Given the description of an element on the screen output the (x, y) to click on. 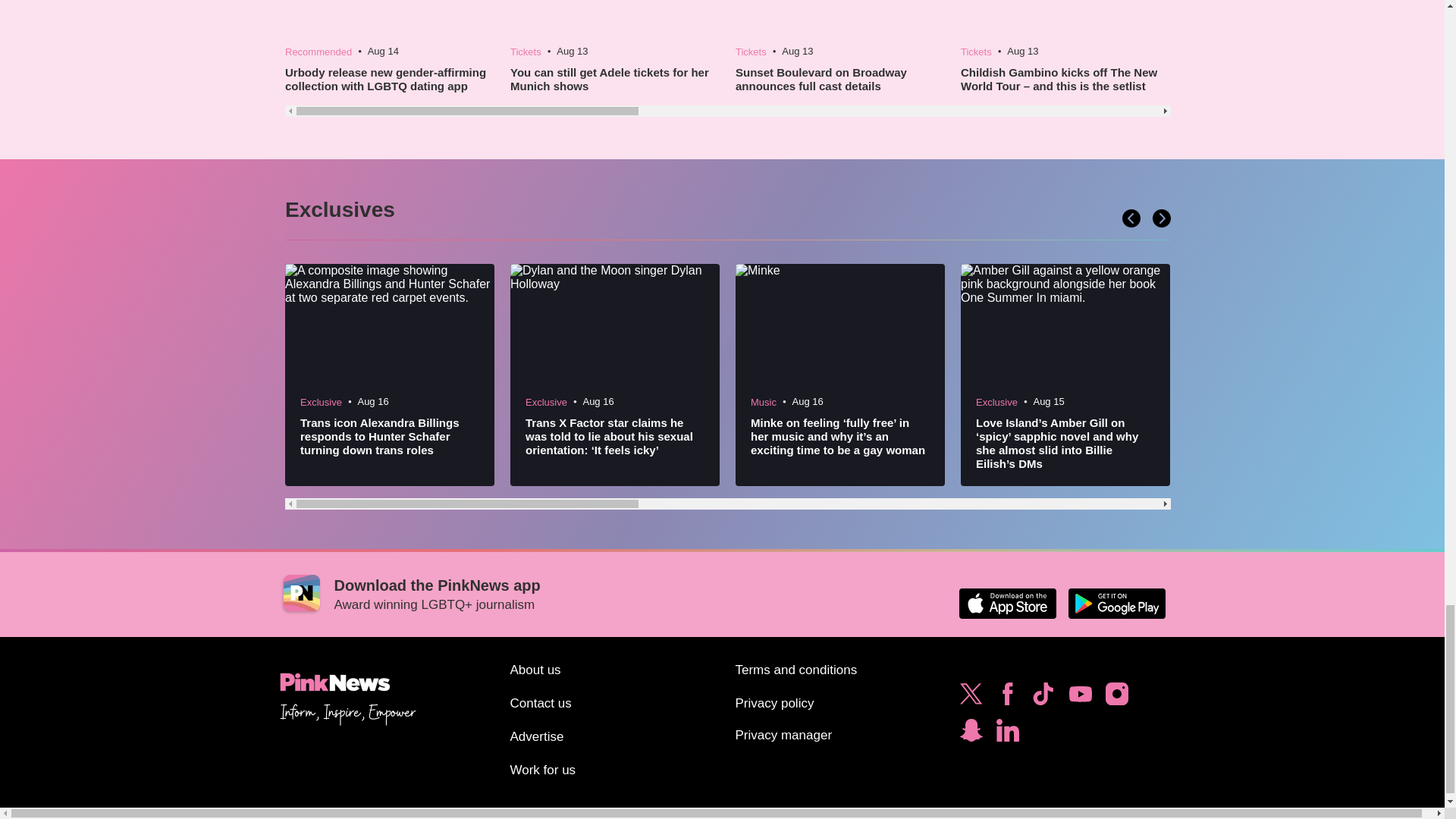
Follow PinkNews on Instagram (1116, 697)
Follow PinkNews on TikTok (1042, 697)
Subscribe to PinkNews on Snapchat (970, 733)
Subscribe to PinkNews on YouTube (1079, 697)
Download the PinkNews app on the Apple App Store (1006, 603)
Follow PinkNews on LinkedIn (1007, 733)
Follow PinkNews on Twitter (970, 697)
Download the PinkNews app on Google Play (1115, 603)
